Given the description of an element on the screen output the (x, y) to click on. 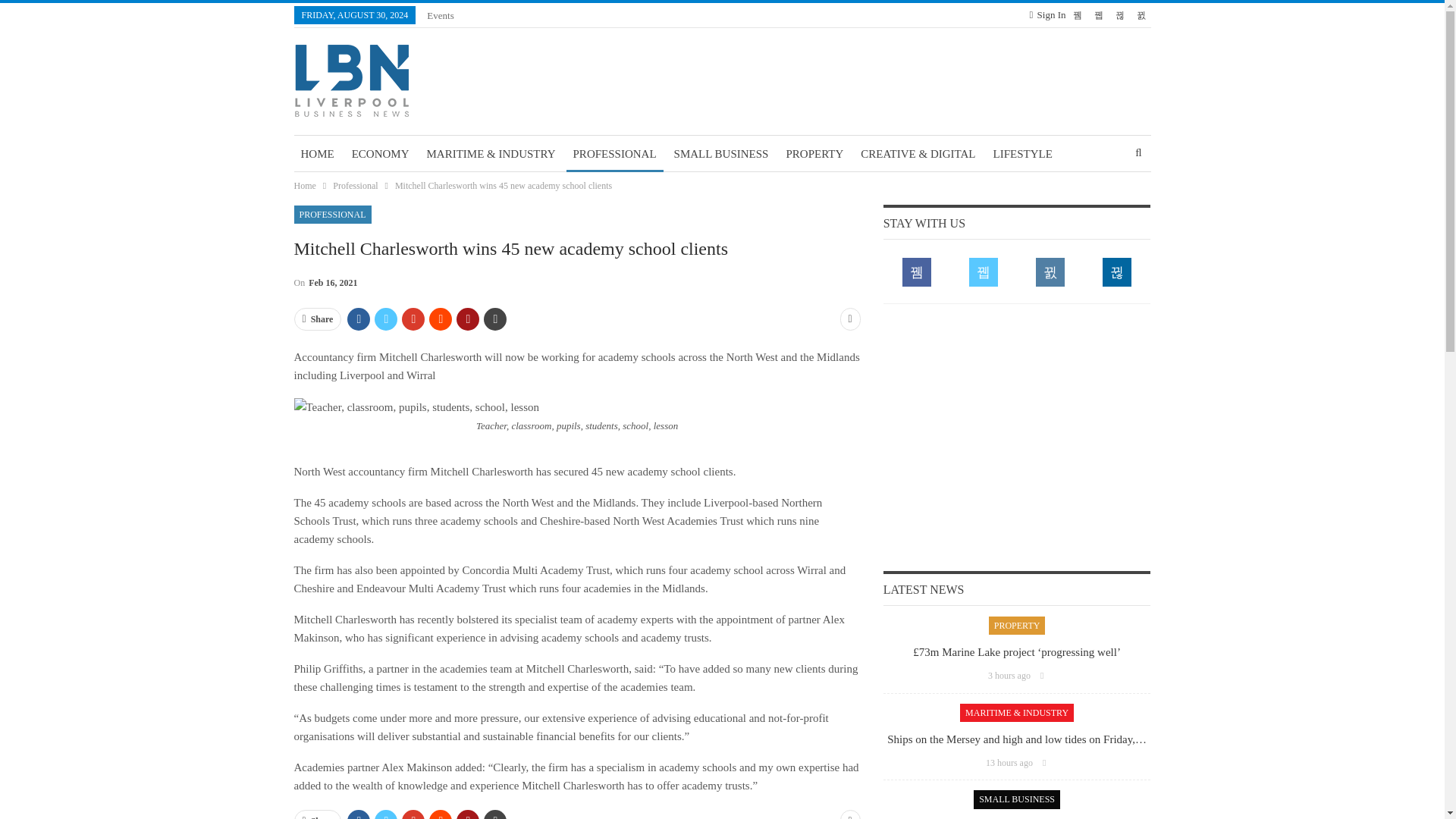
HOME (317, 153)
PROFESSIONAL (332, 214)
Professional (355, 185)
Sign In (1047, 14)
Home (304, 185)
PROPERTY (814, 153)
Events (439, 15)
PROFESSIONAL (614, 153)
SMALL BUSINESS (721, 153)
LIFESTYLE (1023, 153)
